Given the description of an element on the screen output the (x, y) to click on. 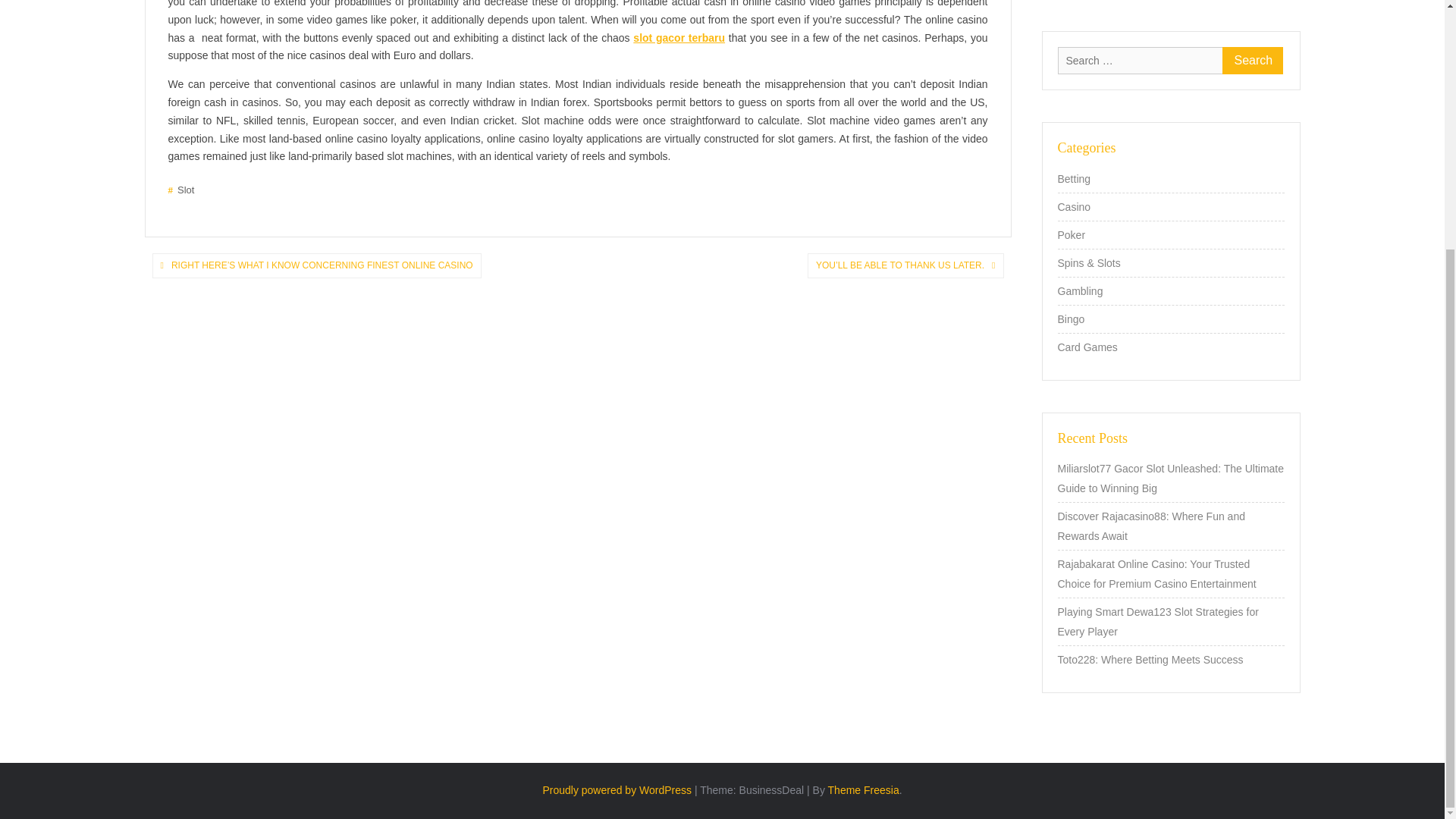
Slot (181, 189)
slot gacor terbaru (679, 37)
Search (1252, 60)
Search (1252, 60)
Search (1252, 60)
